Given the description of an element on the screen output the (x, y) to click on. 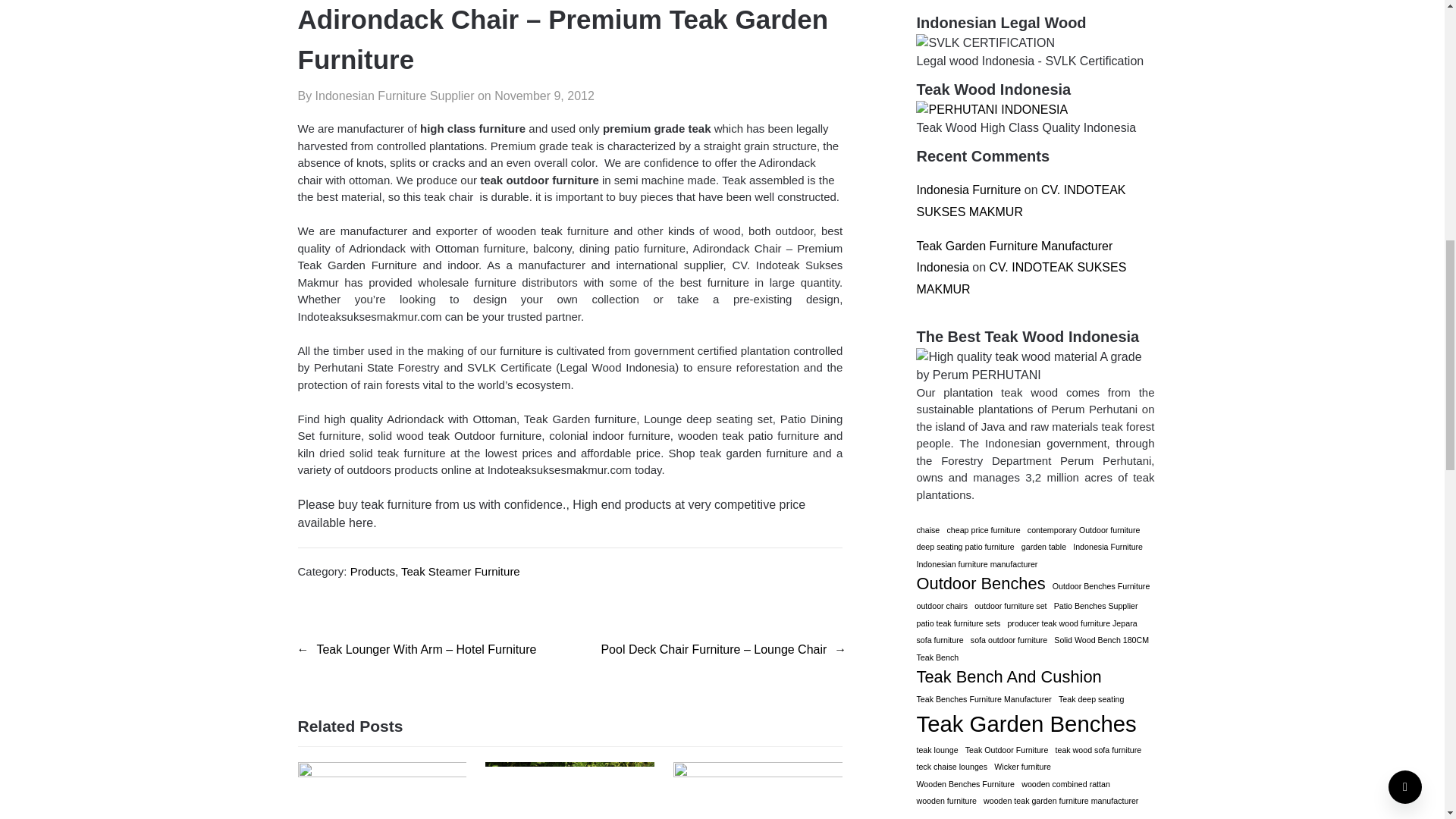
Double Tundan Table Made From Premium Solid Teak Hardwood (757, 772)
November 9, 2012 (544, 95)
Products (372, 571)
Teak Steamer Furniture (460, 571)
